Given the description of an element on the screen output the (x, y) to click on. 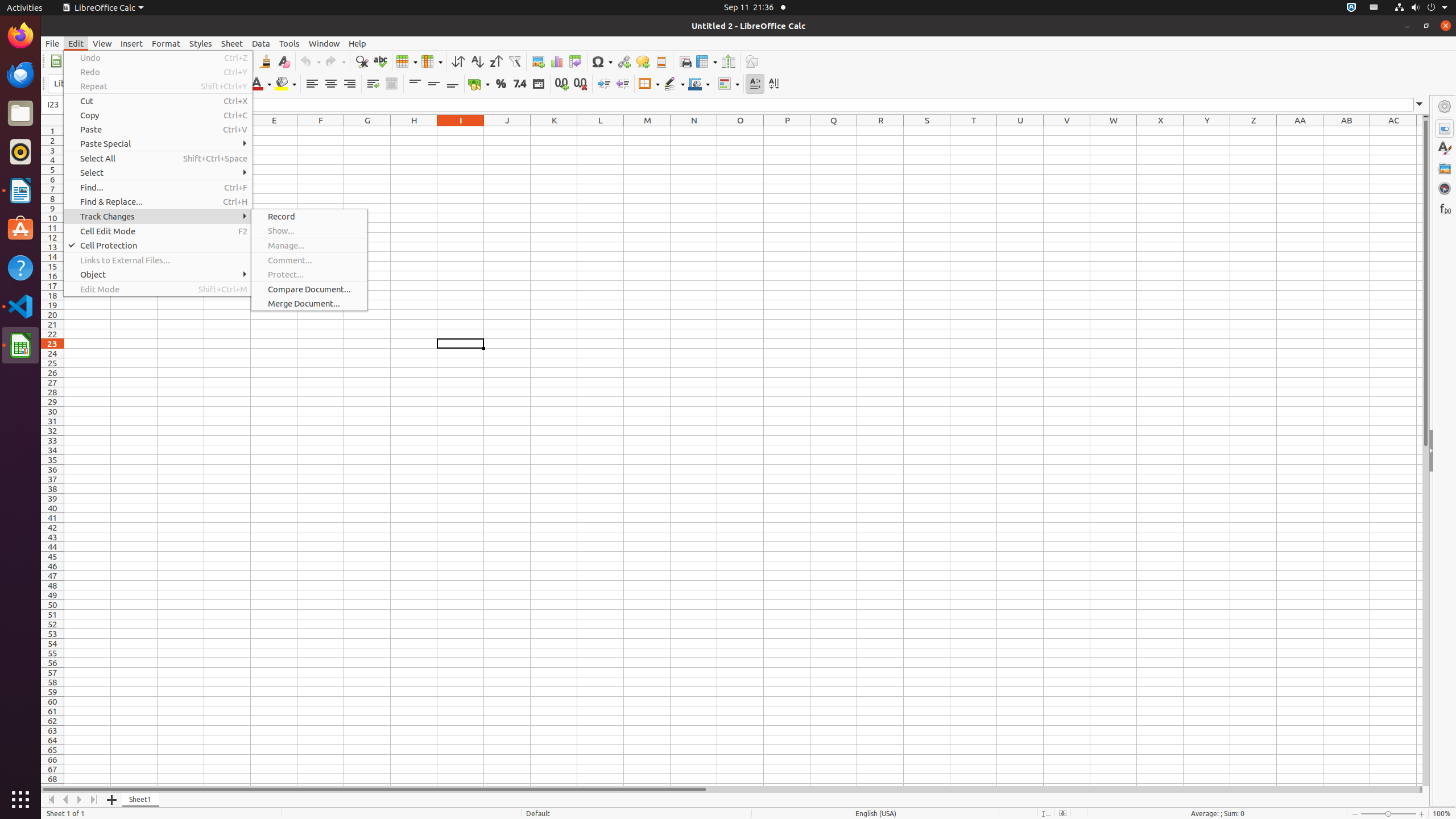
Y1 Element type: table-cell (1206, 130)
Move Left Element type: push-button (65, 799)
Borders (Shift to overwrite) Element type: push-button (648, 83)
Apply Style Element type: text (41, 73)
Currency Element type: push-button (478, 83)
